Given the description of an element on the screen output the (x, y) to click on. 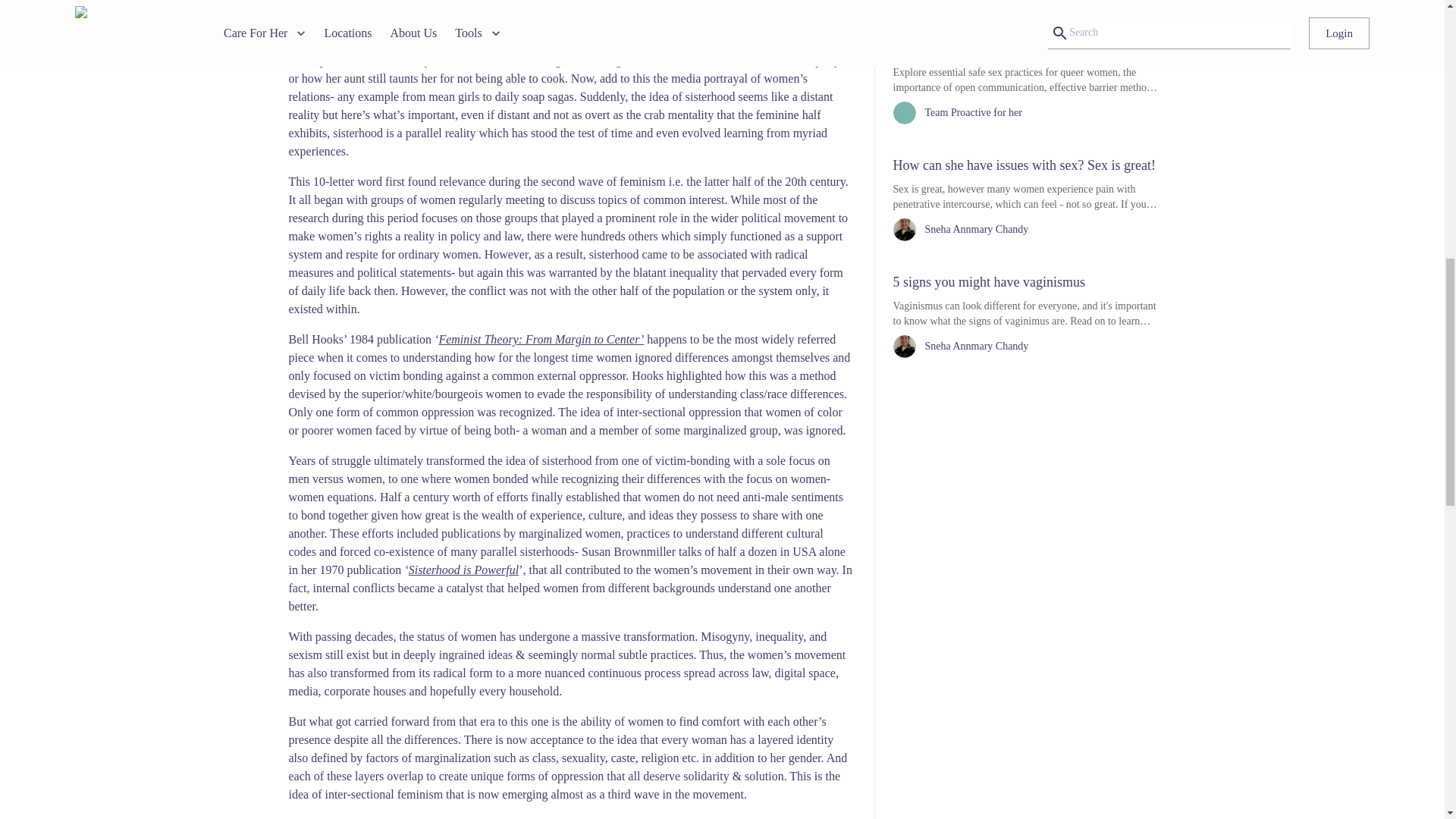
Sisterhood is Powerful (464, 569)
